Given the description of an element on the screen output the (x, y) to click on. 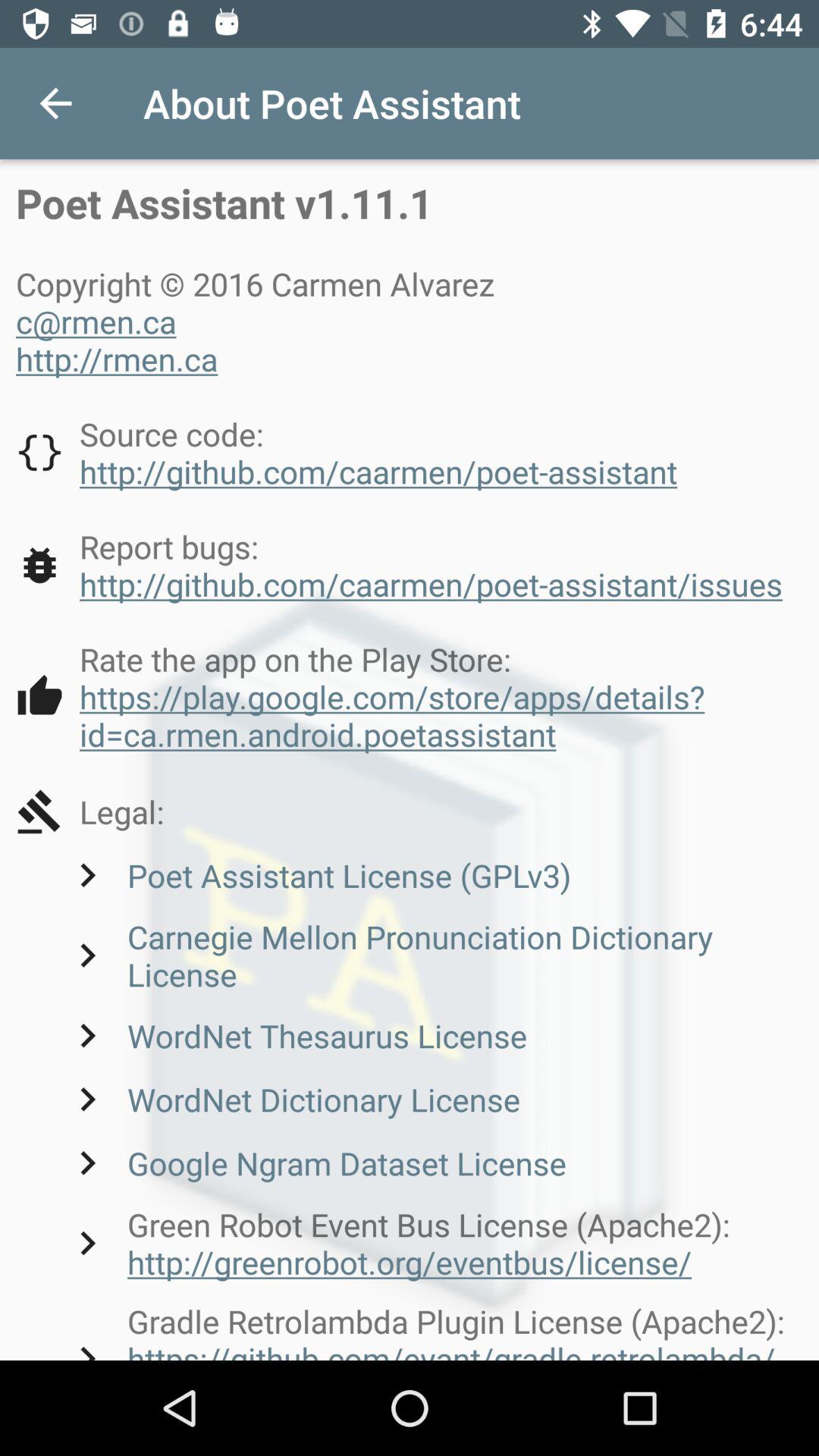
swipe until carnegie mellon pronunciation (433, 955)
